Given the description of an element on the screen output the (x, y) to click on. 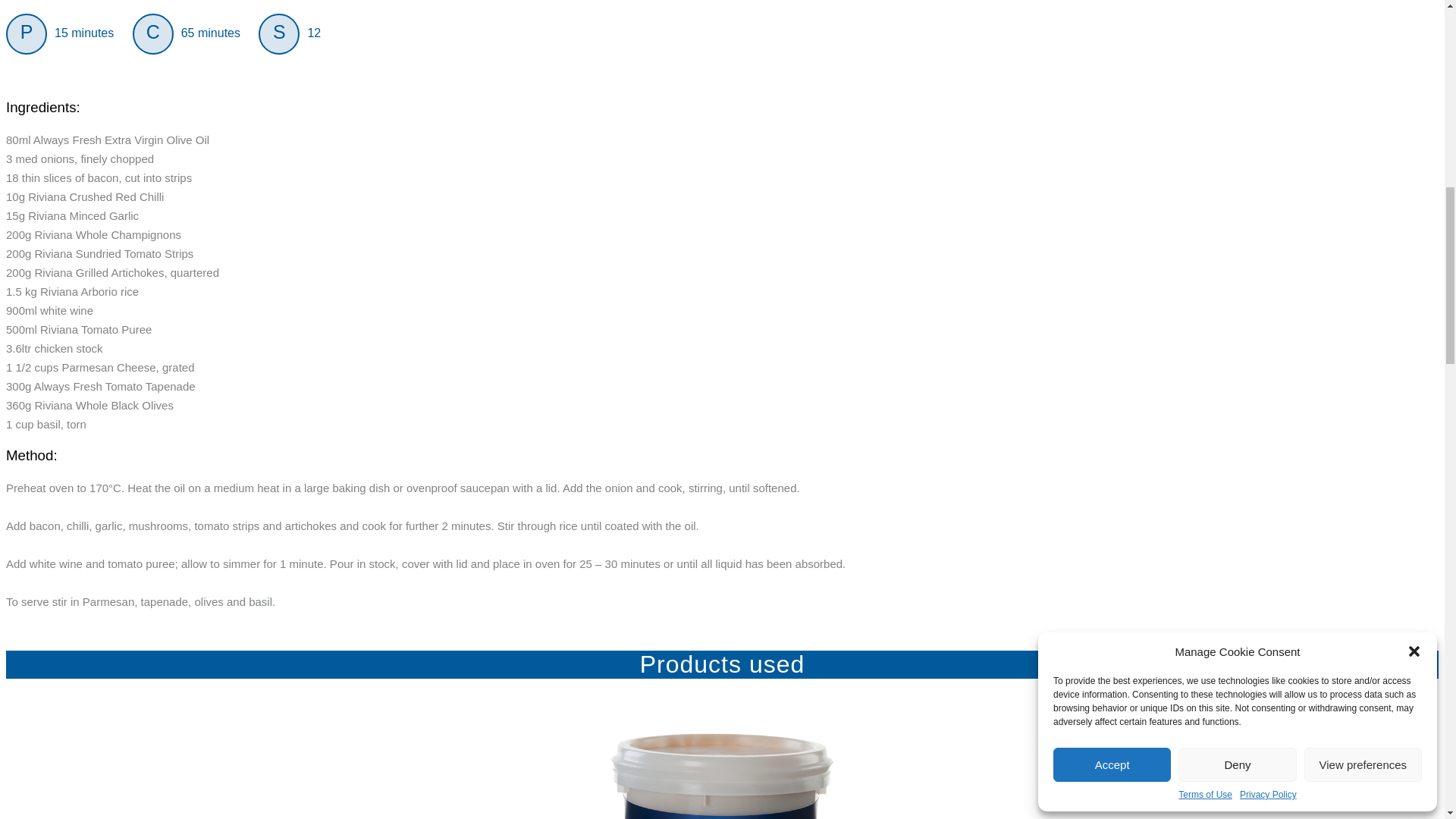
Servings (279, 33)
Cooking time (152, 33)
Garlic Minced (722, 776)
Preparation time (25, 33)
Garlic Minced (722, 776)
